Given the description of an element on the screen output the (x, y) to click on. 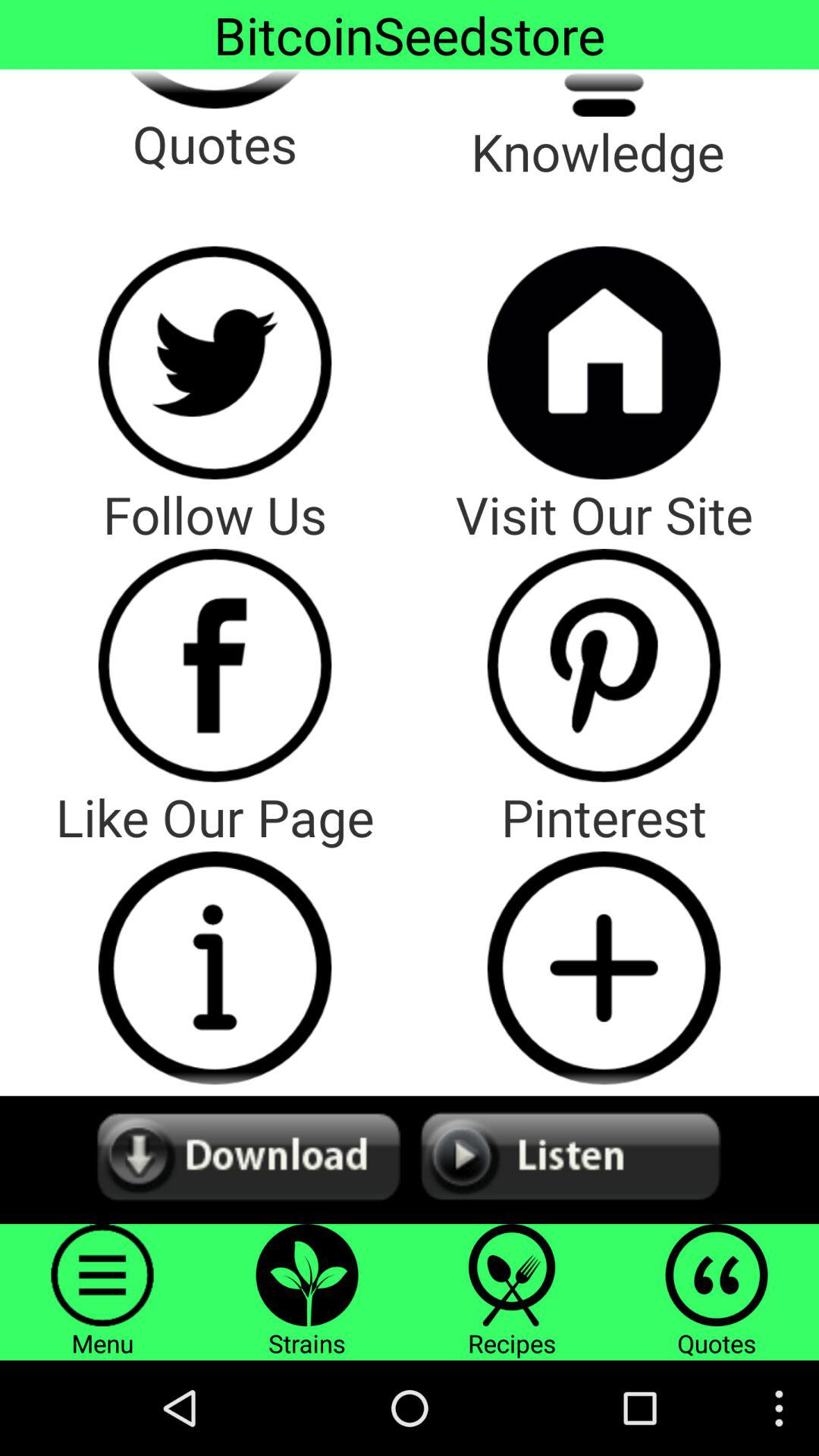
like the page (214, 967)
